Given the description of an element on the screen output the (x, y) to click on. 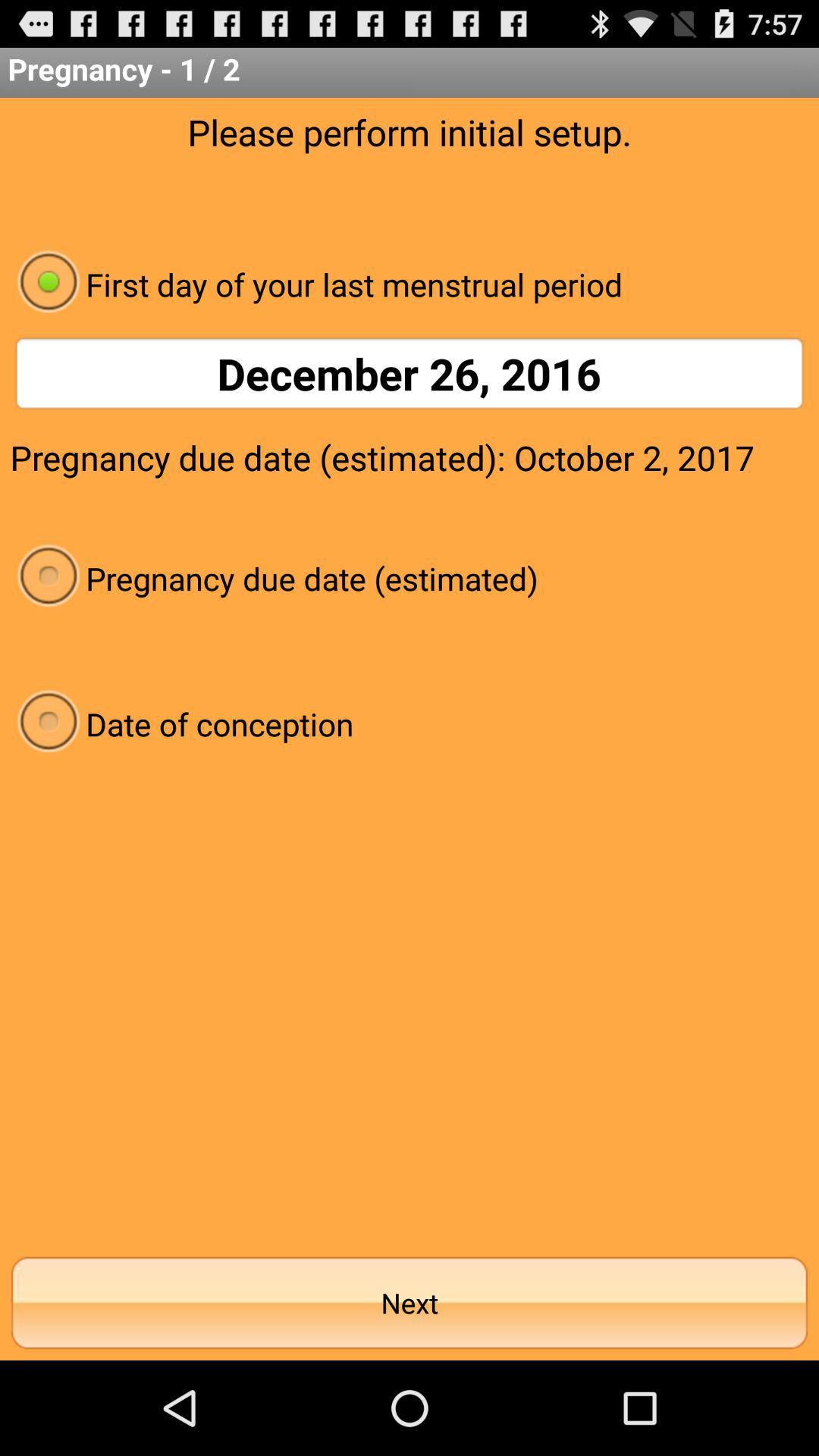
flip until the next icon (409, 1302)
